Given the description of an element on the screen output the (x, y) to click on. 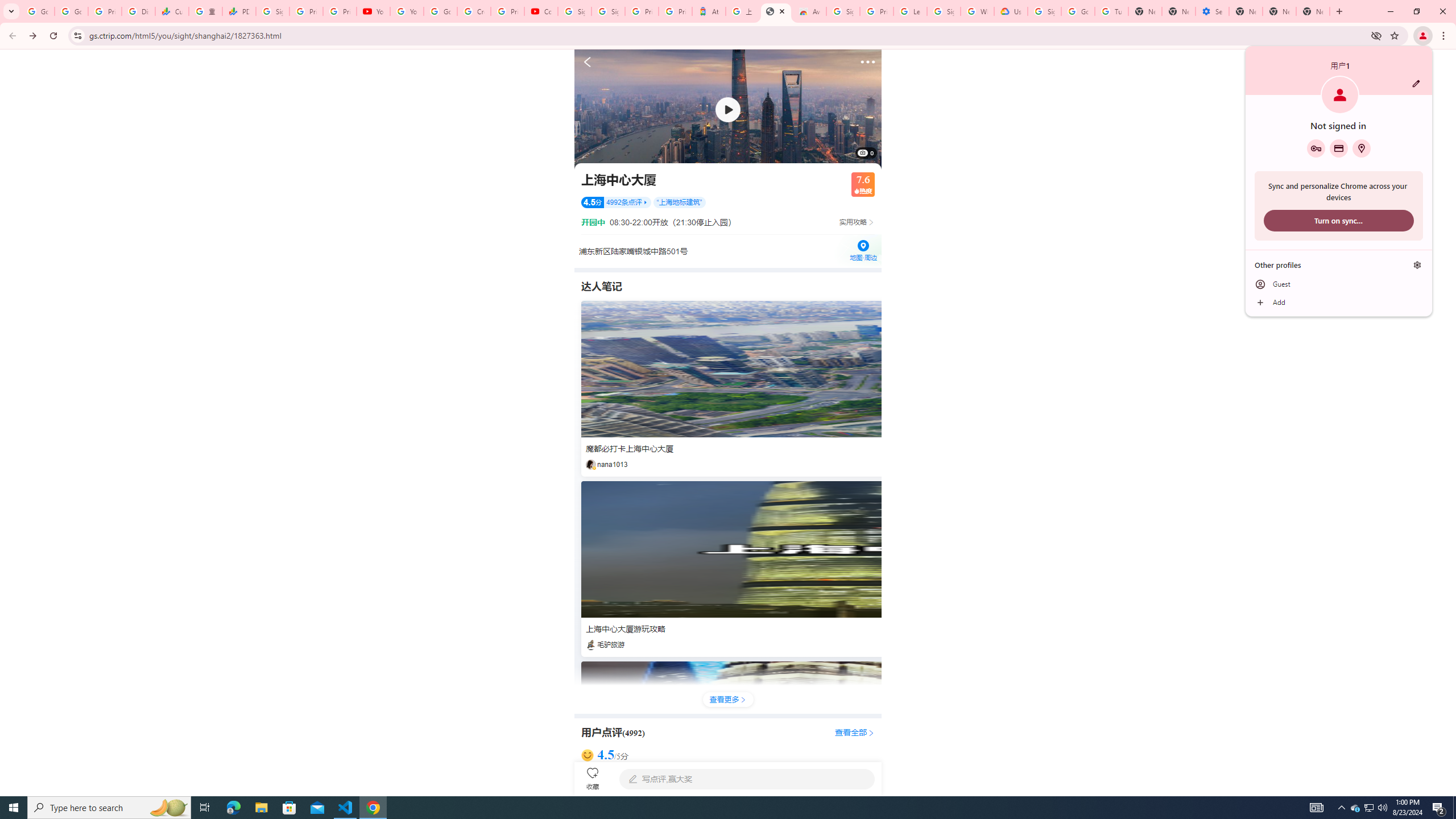
Action Center, 2 new notifications (1439, 807)
AutomationID: 4105 (1316, 807)
Google Workspace Admin Community (37, 11)
Show desktop (1454, 807)
Create your Google Account (474, 11)
Guest (1338, 284)
YouTube (372, 11)
